Given the description of an element on the screen output the (x, y) to click on. 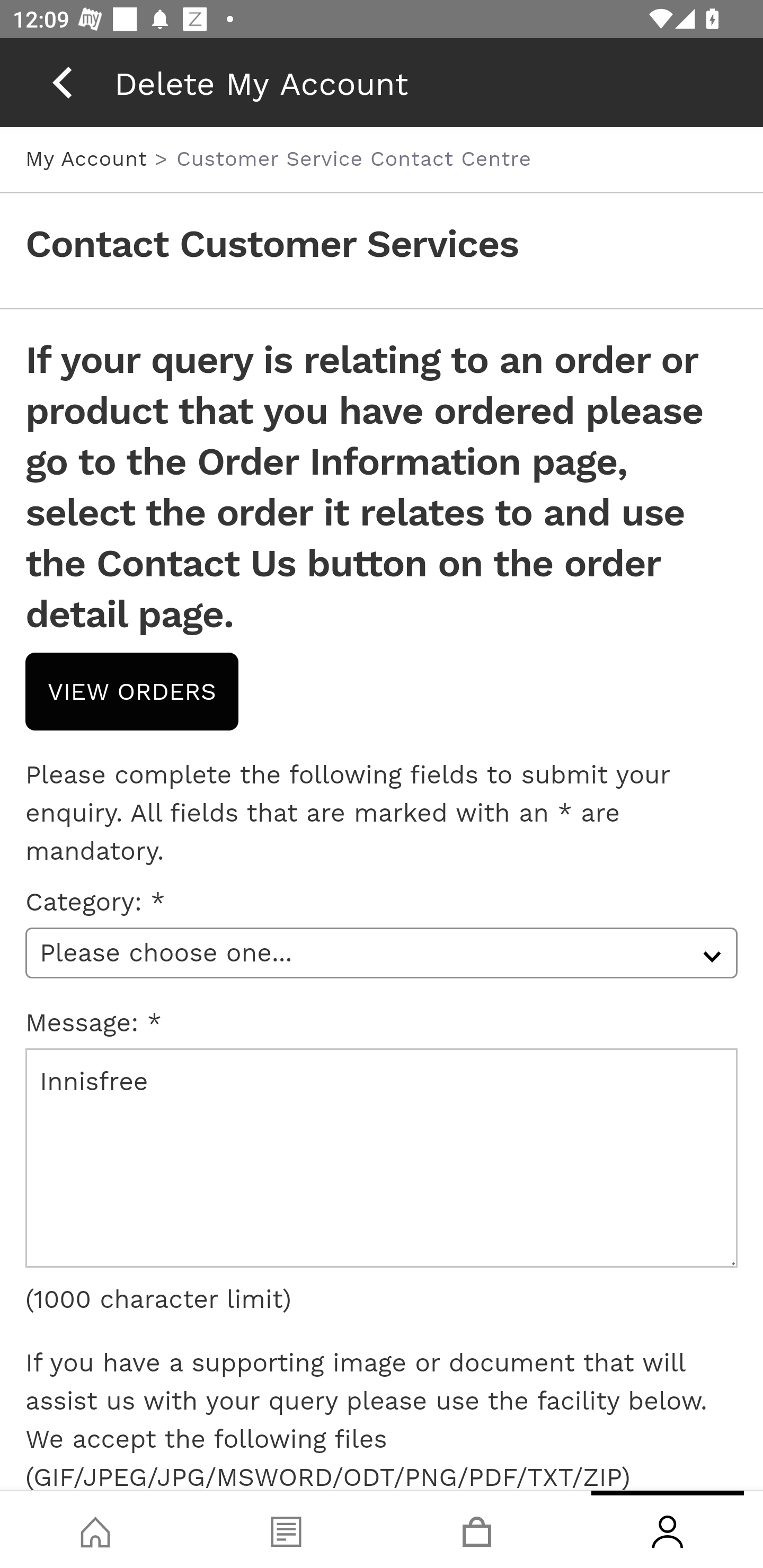
back (61, 82)
My Account  (90, 157)
VIEW ORDERS (132, 691)
Please choose one... (381, 952)
Innisfree
 (381, 1157)
Shop, tab, 1 of 4 (95, 1529)
Blog, tab, 2 of 4 (285, 1529)
Basket, tab, 3 of 4 (476, 1529)
Account, tab, 4 of 4 (667, 1529)
